Given the description of an element on the screen output the (x, y) to click on. 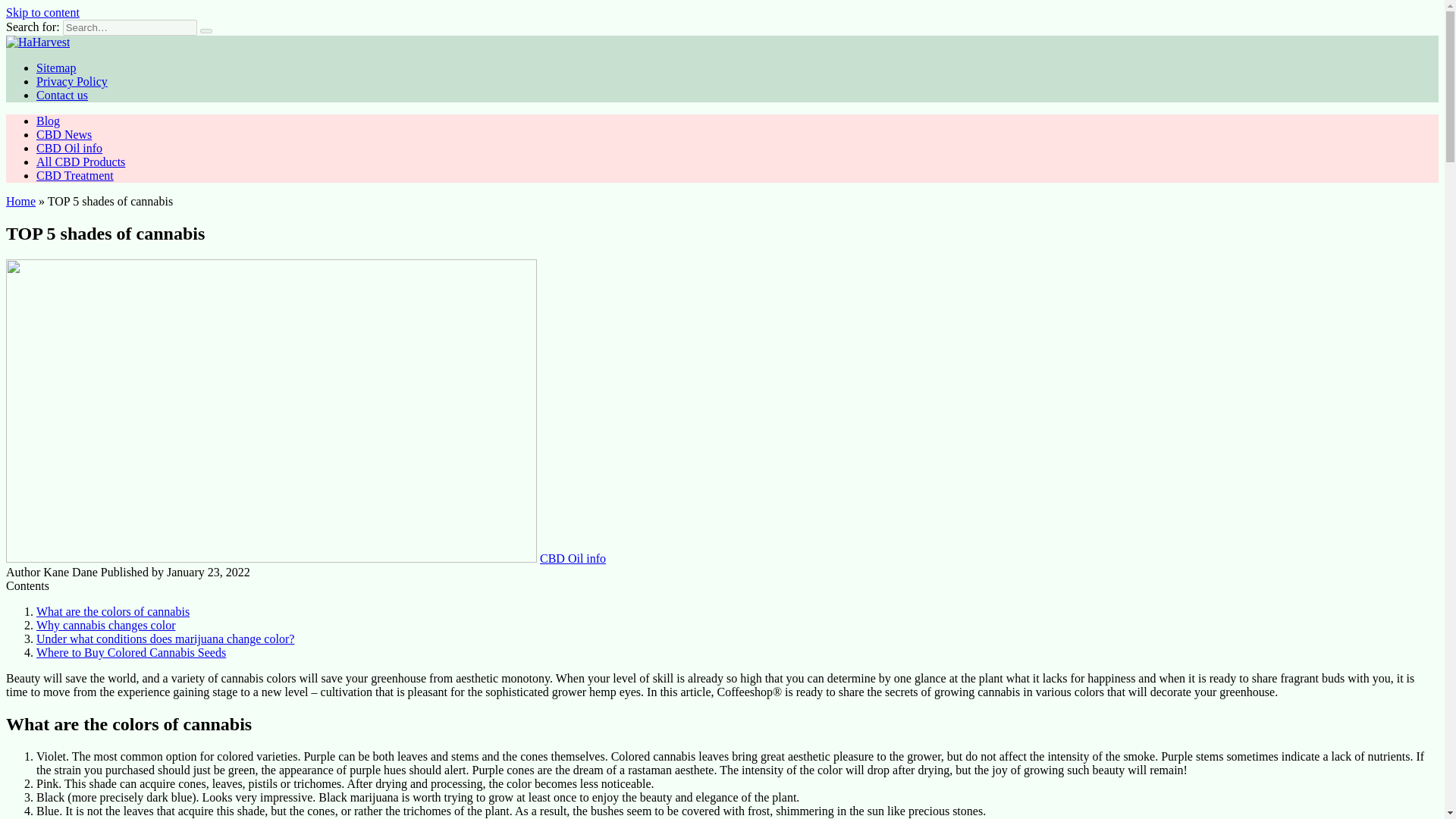
Home (19, 201)
Skip to content (42, 11)
Blog (47, 120)
Why cannabis changes color (105, 625)
Privacy Policy (71, 81)
CBD News (63, 133)
Contact us (61, 94)
CBD Oil info (68, 147)
Sitemap (55, 67)
What are the colors of cannabis (112, 611)
CBD Oil info (572, 558)
All CBD Products (80, 161)
Under what conditions does marijuana change color? (165, 638)
Where to Buy Colored Cannabis Seeds (130, 652)
CBD Treatment (74, 174)
